Given the description of an element on the screen output the (x, y) to click on. 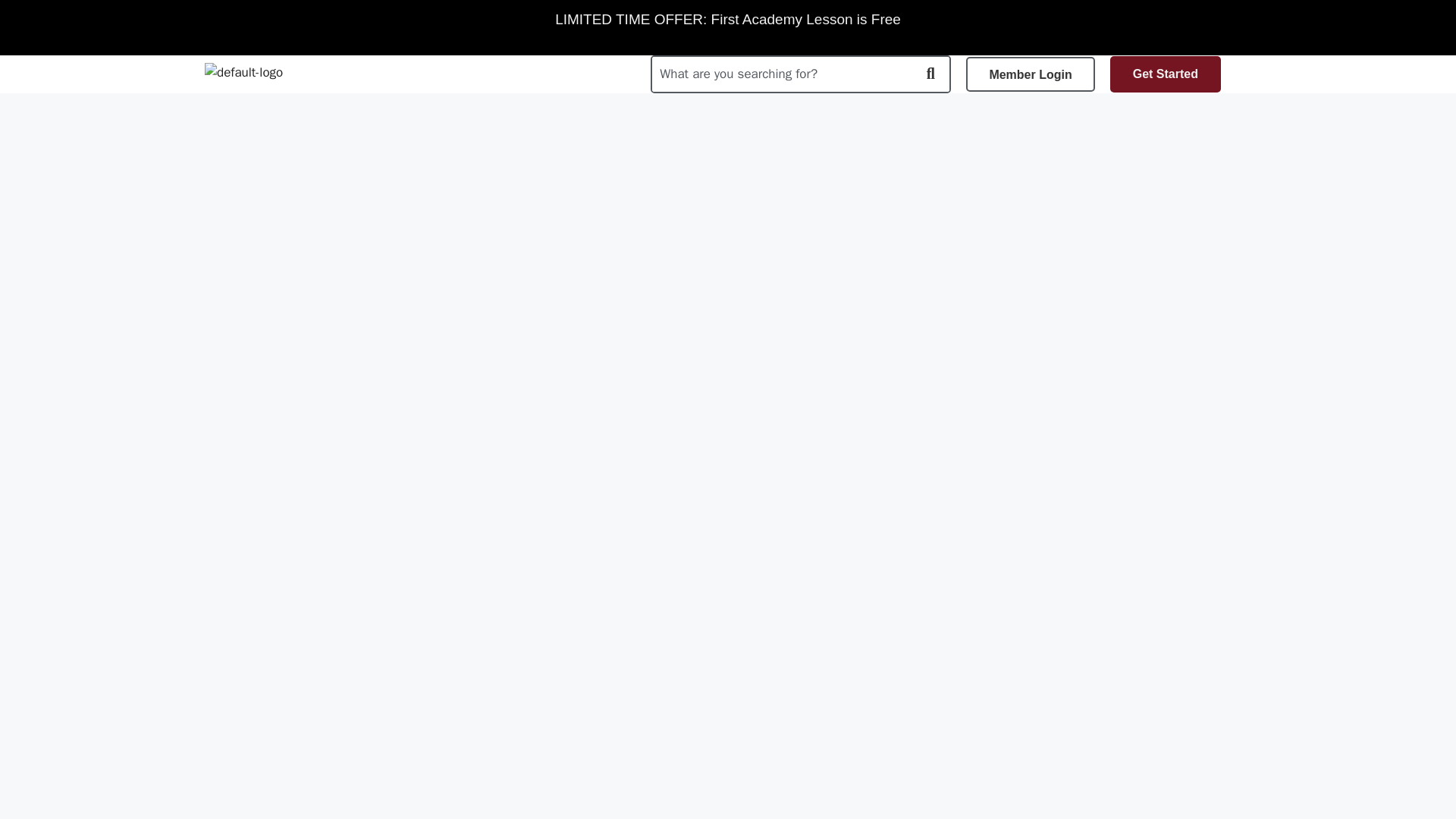
Member Login (1030, 73)
Search (781, 73)
Get Started (1165, 74)
LIMITED TIME OFFER: First Academy Lesson is Free (727, 19)
